Given the description of an element on the screen output the (x, y) to click on. 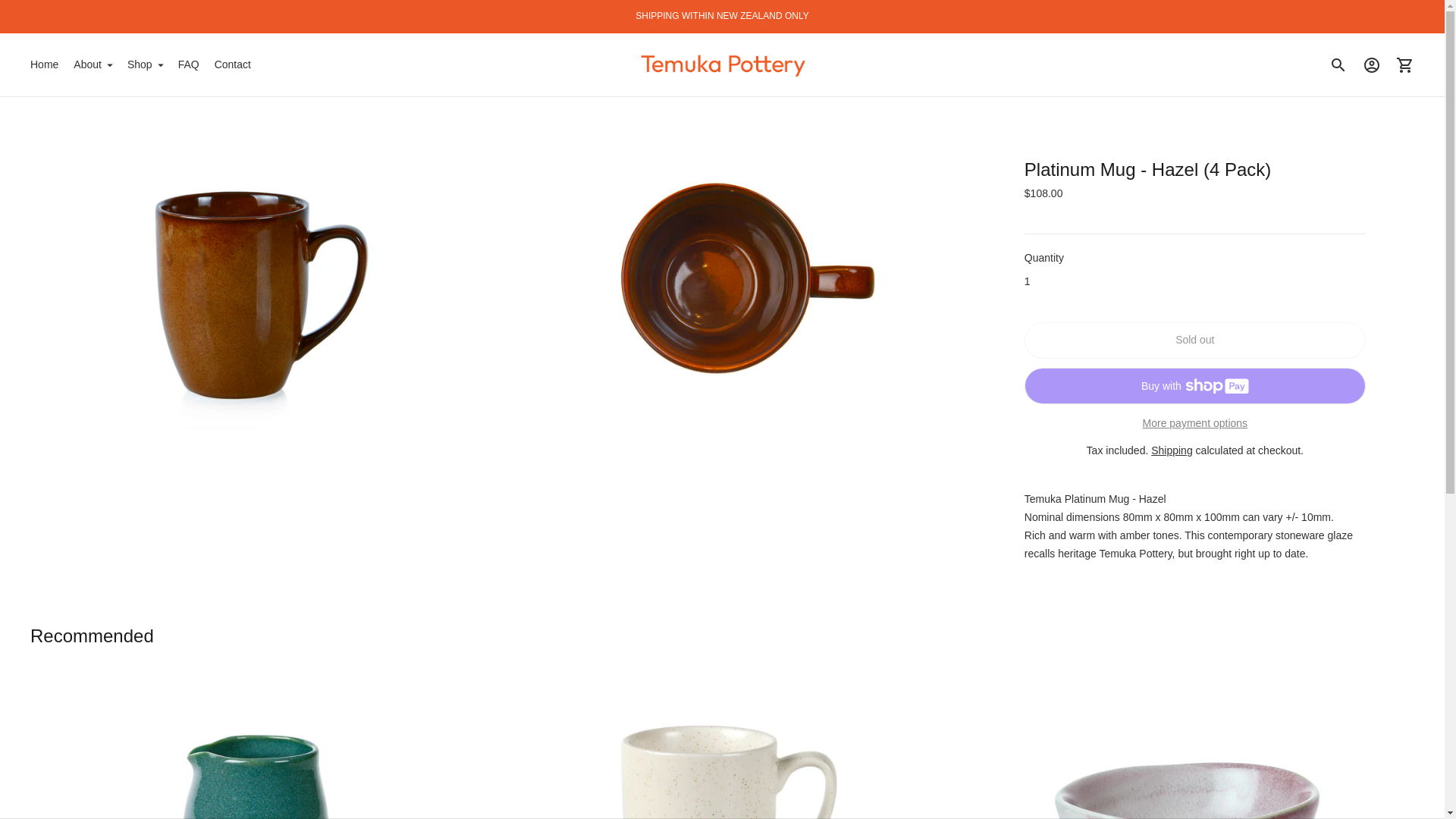
1 (1195, 270)
About (93, 64)
Contact (232, 64)
FAQ (188, 64)
Home (44, 64)
Shop (145, 64)
